Given the description of an element on the screen output the (x, y) to click on. 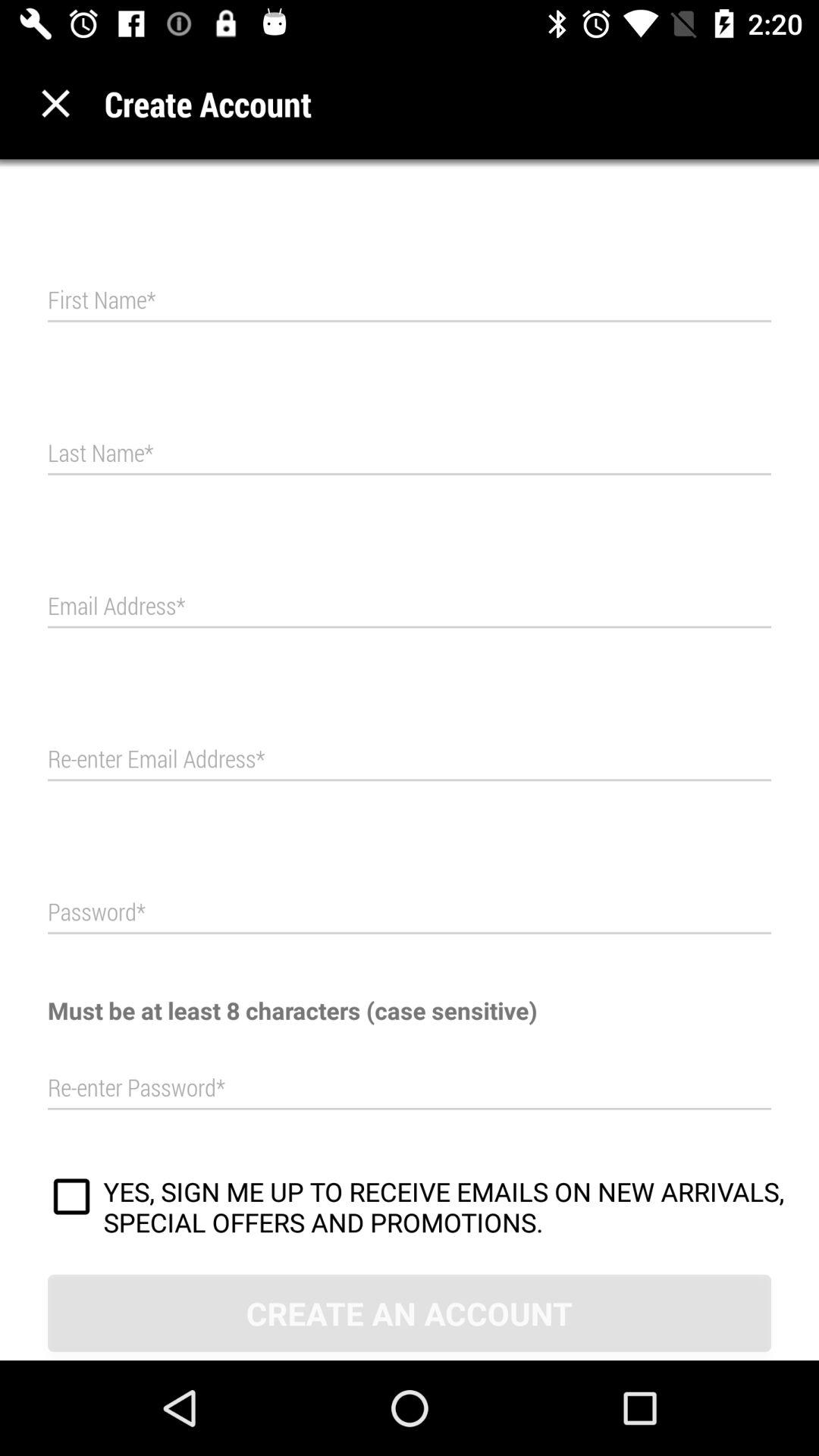
open item next to create account item (55, 103)
